Given the description of an element on the screen output the (x, y) to click on. 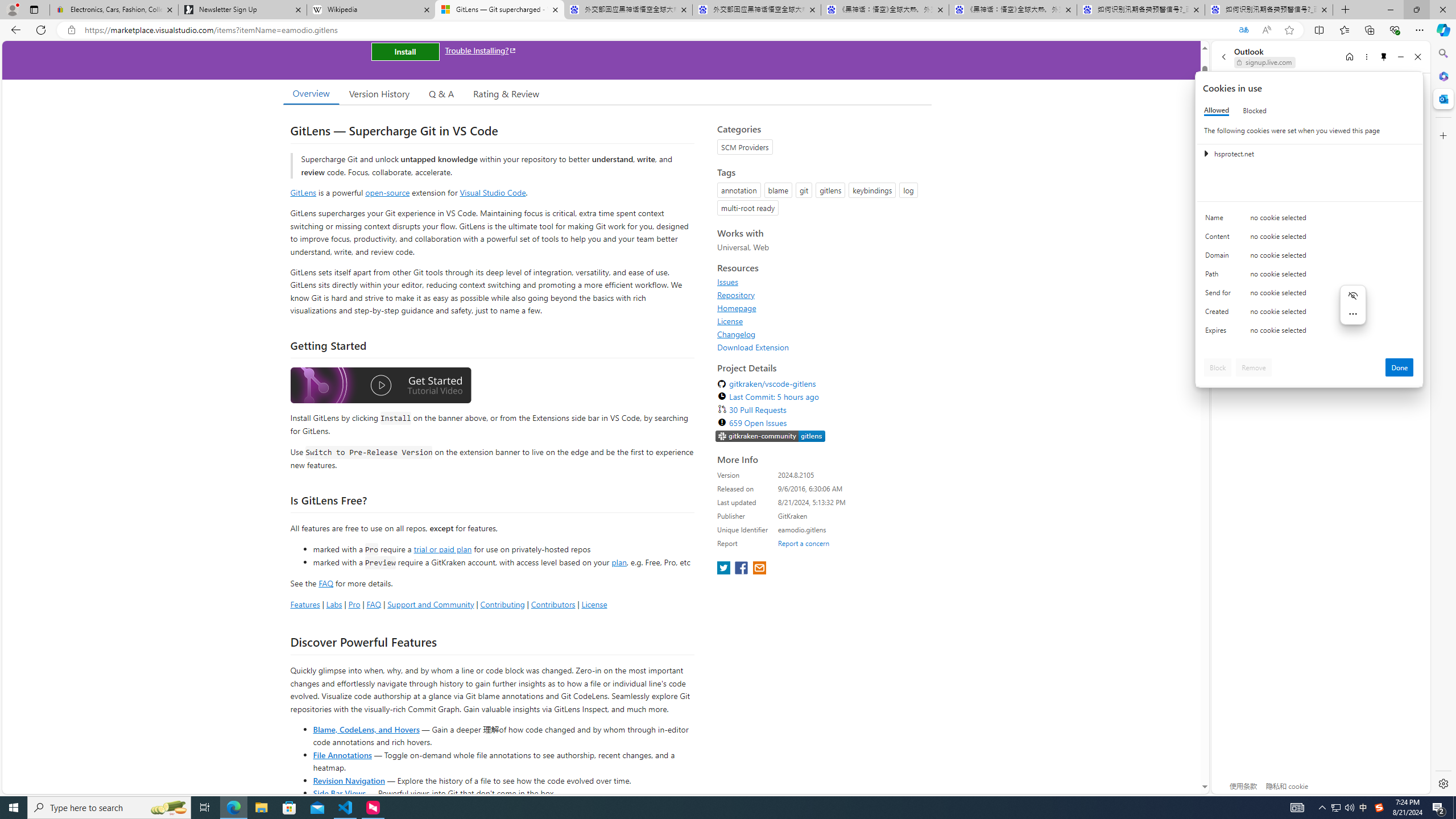
Send for (1219, 295)
Expires (1219, 332)
Done (1399, 367)
Content (1219, 239)
Hide menu (1352, 295)
Block (1217, 367)
Class: c0153 c0157 (1309, 332)
Blocked (1255, 110)
Name (1219, 220)
Created (1219, 313)
no cookie selected (1331, 332)
Domain (1219, 257)
Mini menu on text selection (1352, 304)
Path (1219, 276)
More actions (1352, 313)
